Given the description of an element on the screen output the (x, y) to click on. 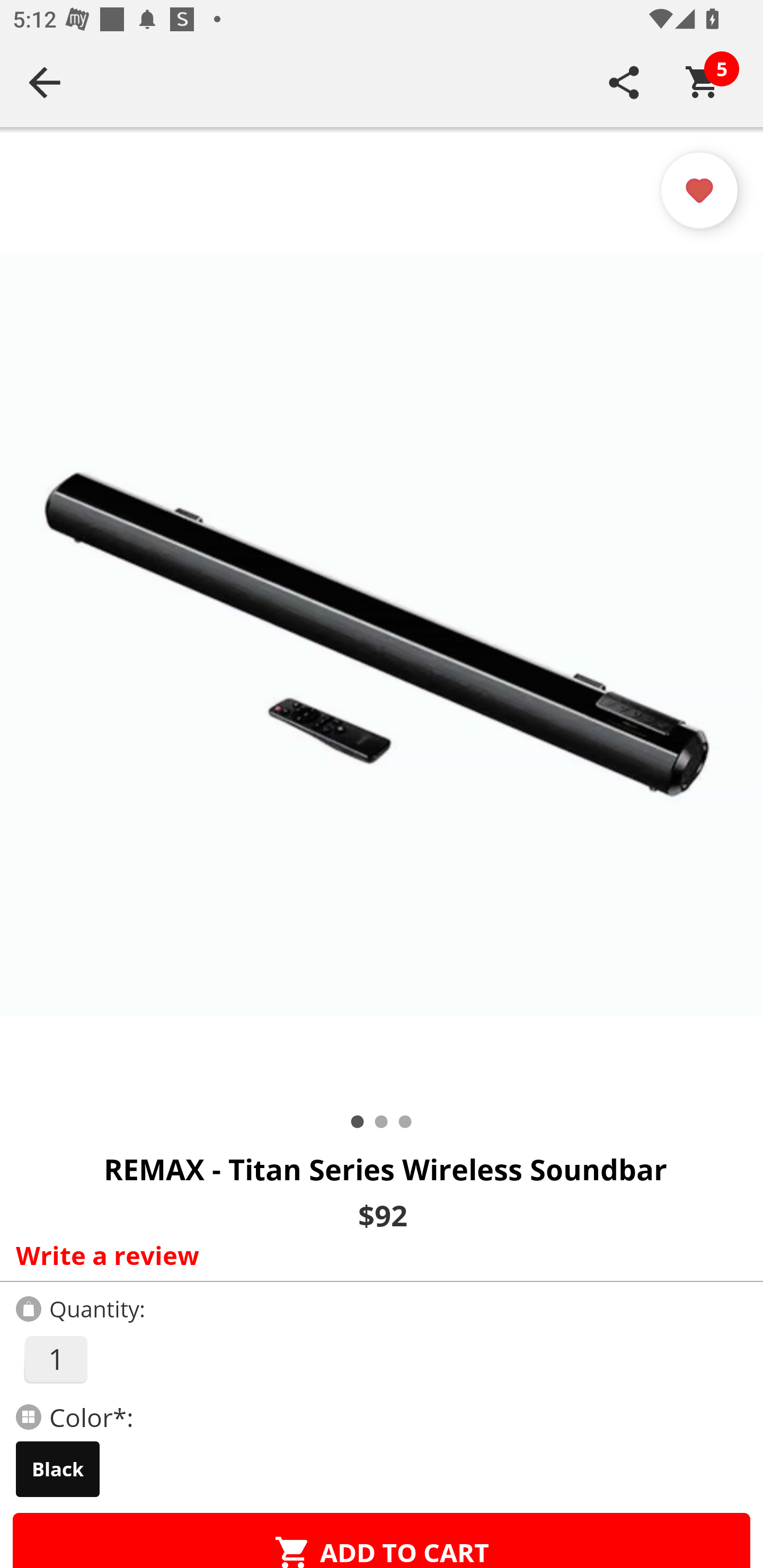
Navigate up (44, 82)
SHARE (623, 82)
Cart (703, 81)
Write a review (377, 1255)
1 (55, 1358)
Black (57, 1468)
ADD TO CART (381, 1540)
